Given the description of an element on the screen output the (x, y) to click on. 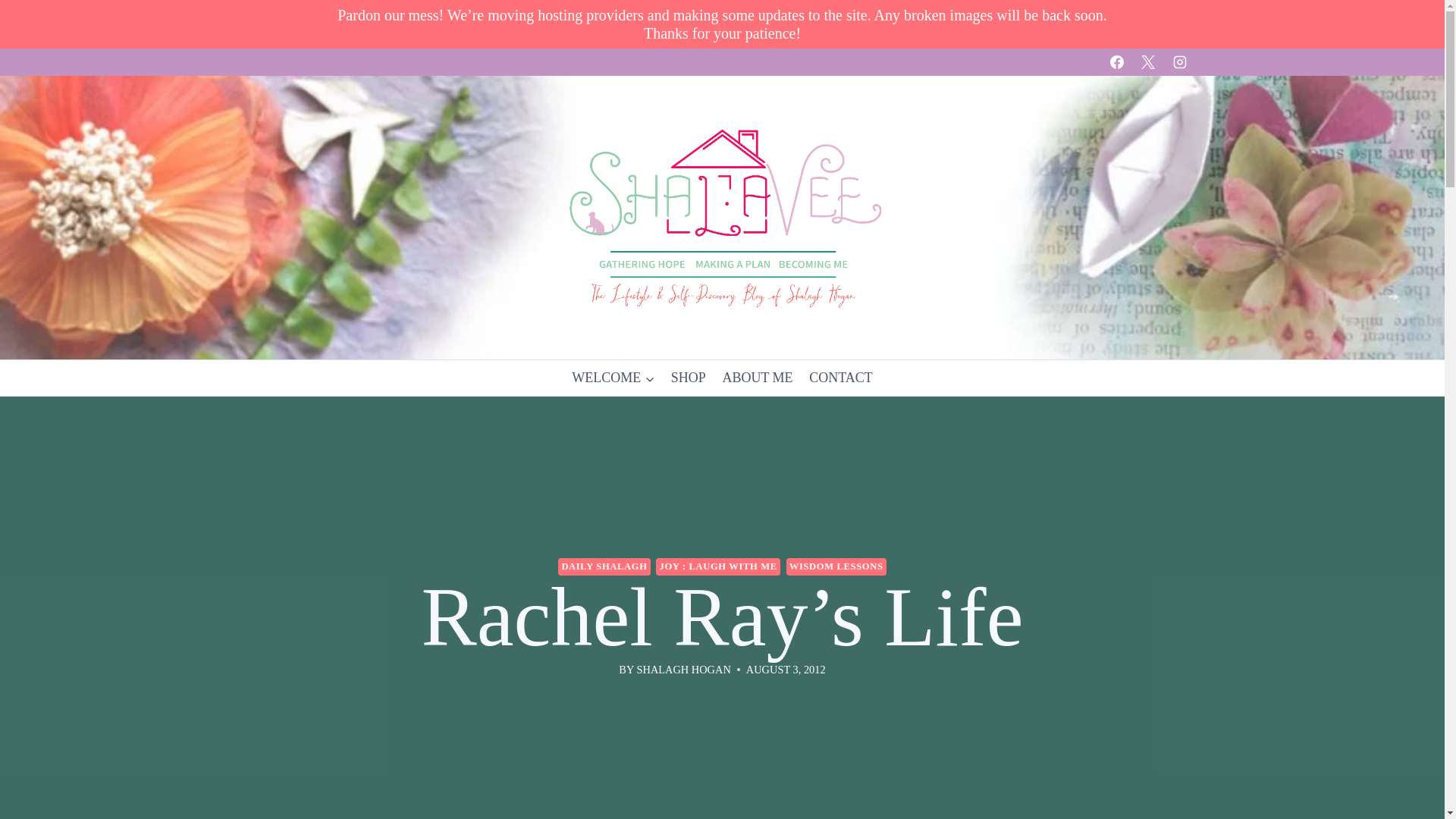
SHOP (688, 377)
WELCOME (612, 377)
WISDOM LESSONS (836, 566)
DAILY SHALAGH (603, 566)
JOY : LAUGH WITH ME (717, 566)
ABOUT ME (758, 377)
CONTACT (840, 377)
